Given the description of an element on the screen output the (x, y) to click on. 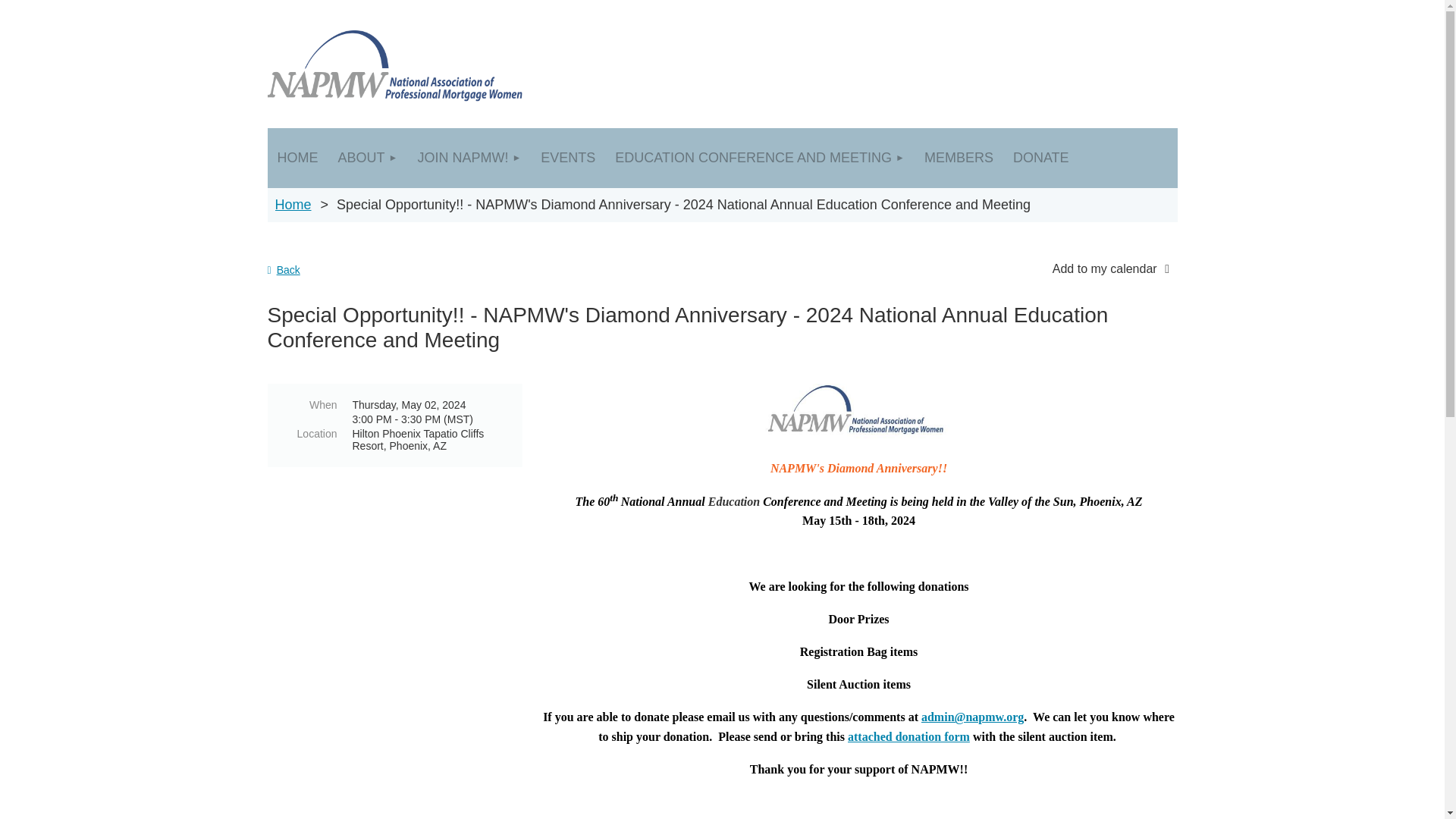
JOIN NAPMW! (469, 157)
Home (293, 204)
EDUCATION CONFERENCE AND MEETING (759, 157)
MEMBERS (958, 157)
DONATE (1040, 157)
HOME (296, 157)
Back (282, 269)
ABOUT (367, 157)
EVENTS (568, 157)
